Given the description of an element on the screen output the (x, y) to click on. 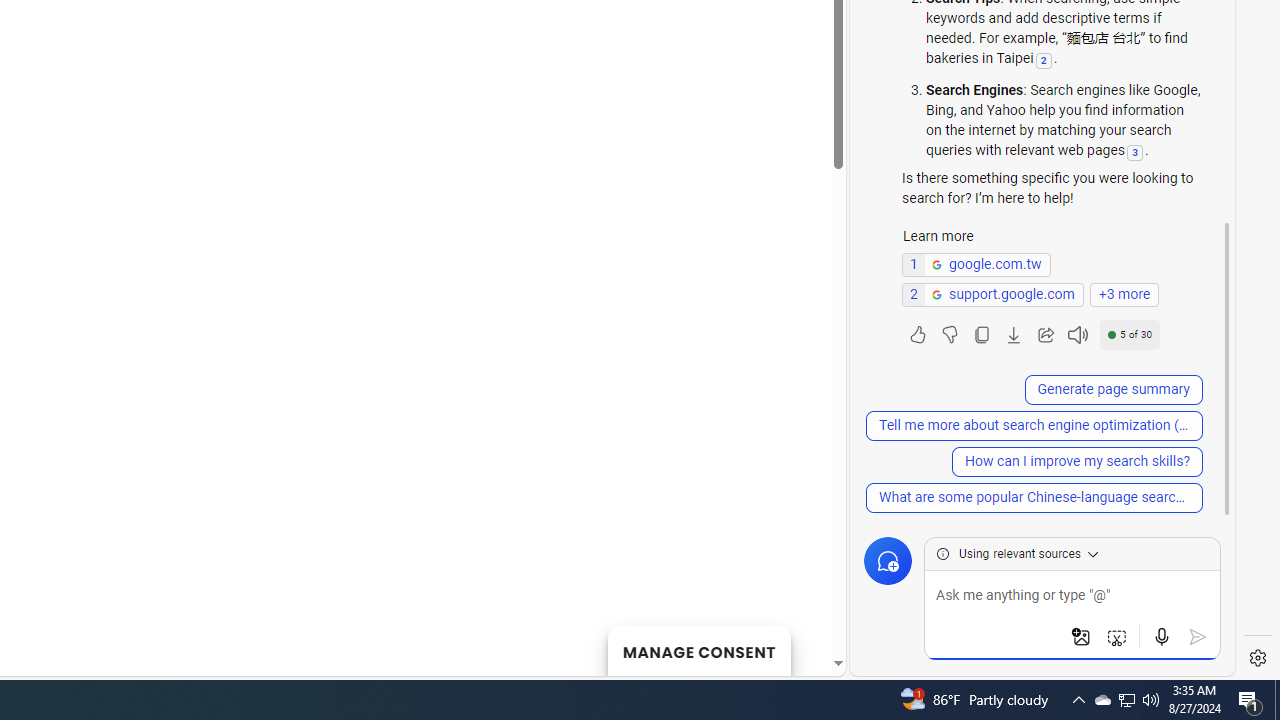
MANAGE CONSENT (698, 650)
